Given the description of an element on the screen output the (x, y) to click on. 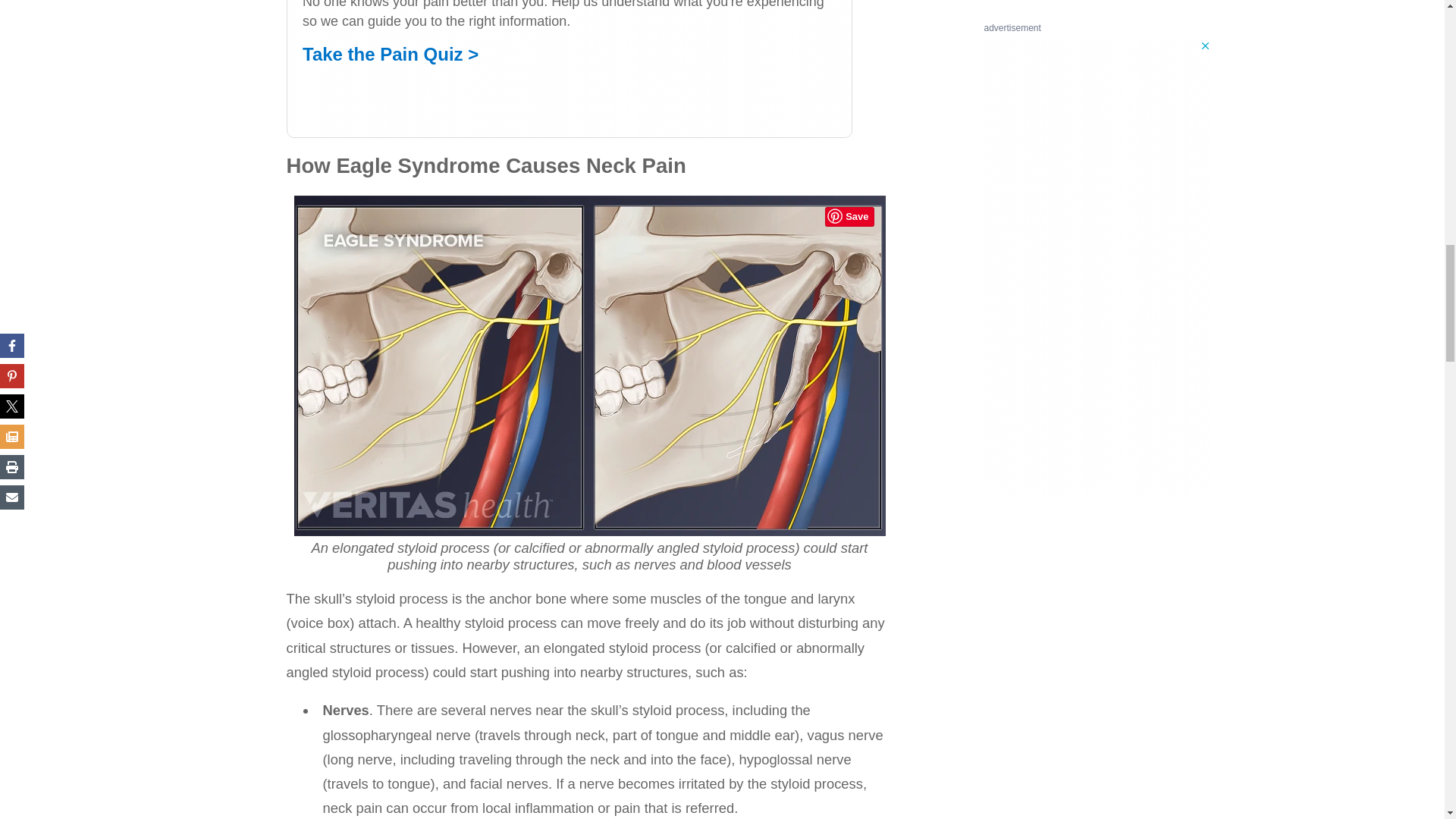
3rd party ad content (571, 69)
